Given the description of an element on the screen output the (x, y) to click on. 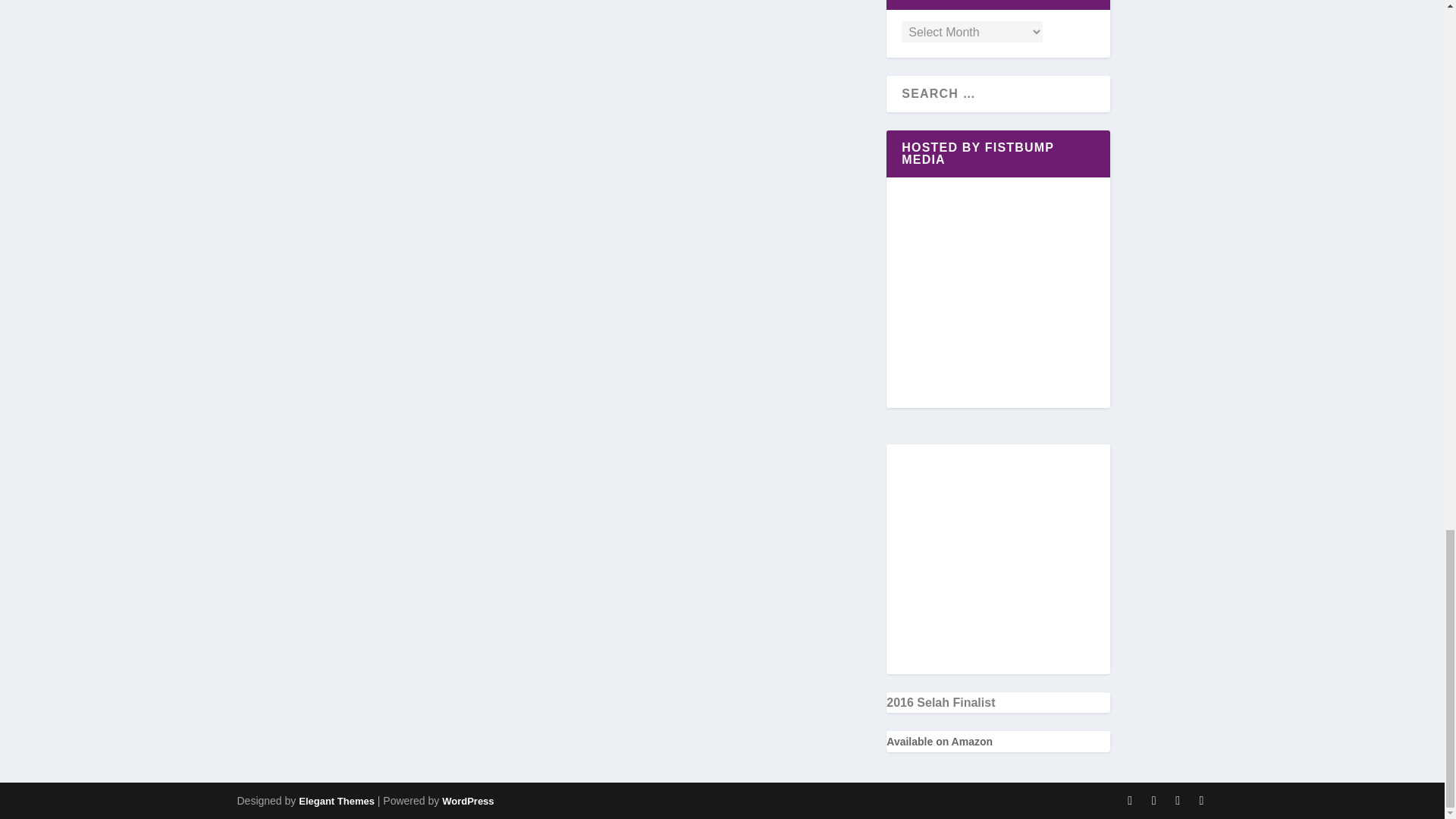
Premium WordPress Themes (336, 800)
Available on Amazon (939, 741)
Elegant Themes (336, 800)
WordPress (467, 800)
